Given the description of an element on the screen output the (x, y) to click on. 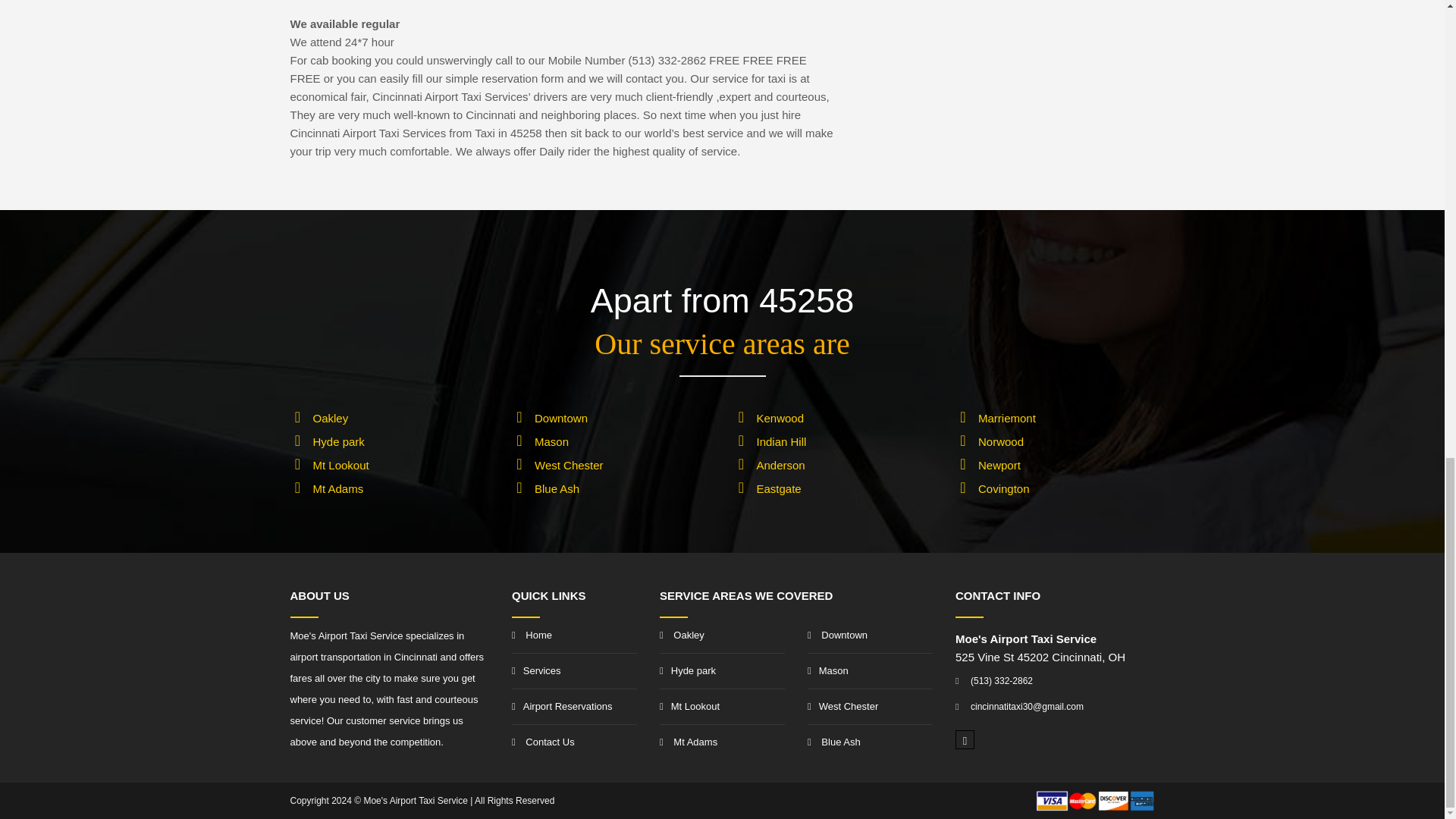
Norwood (1000, 440)
Marriemont (1006, 418)
Oakley (330, 418)
Blue Ash (556, 488)
Downtown (561, 418)
Anderson (781, 464)
Eastgate (779, 488)
Mason (551, 440)
Covington (1003, 488)
West Chester (569, 464)
Home (574, 635)
Airport Reservations (574, 706)
Newport (999, 464)
Kenwood (781, 418)
Indian Hill (781, 440)
